Given the description of an element on the screen output the (x, y) to click on. 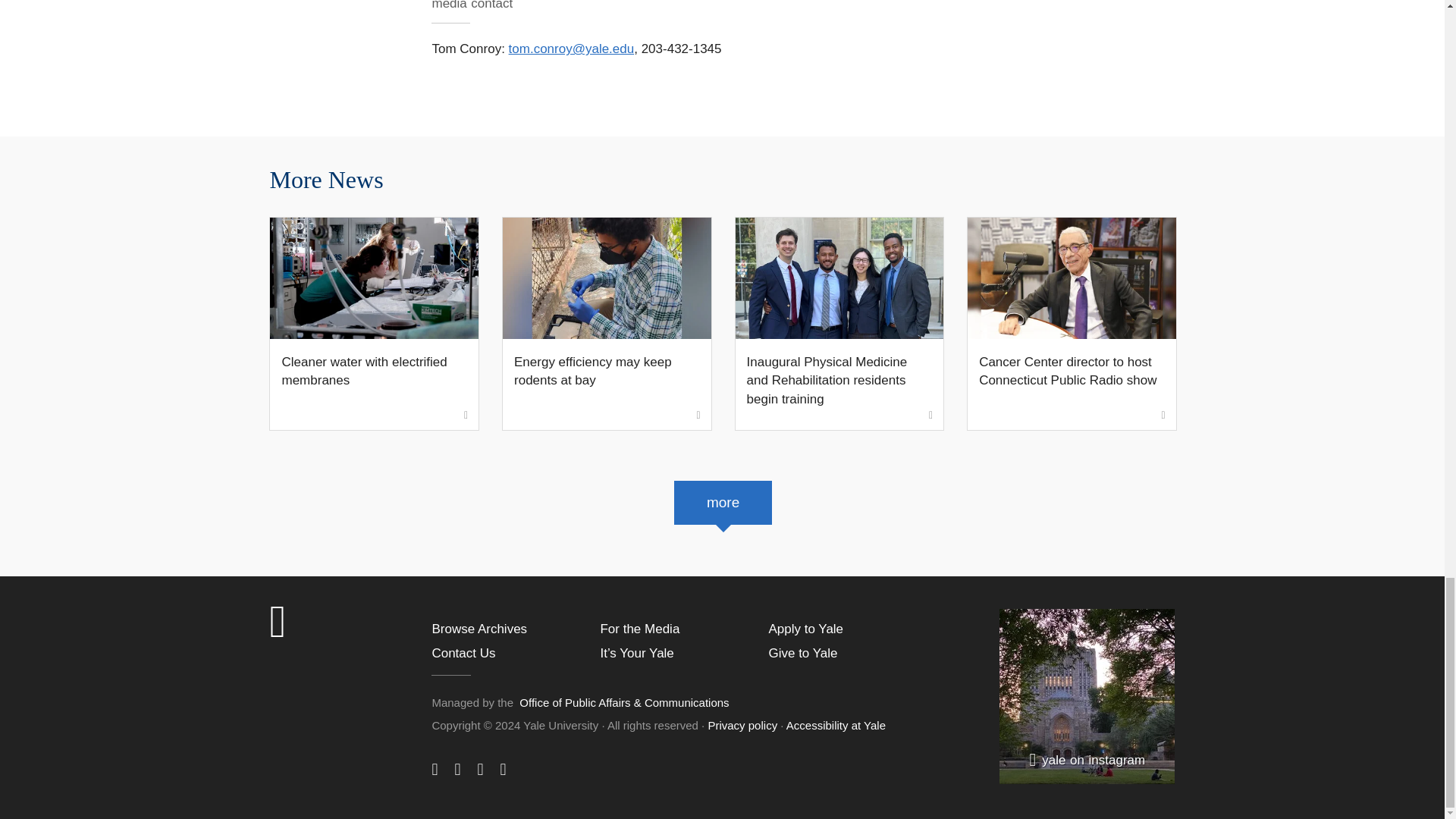
Accessibility at Yale (835, 725)
Yale Privacy policy (742, 725)
